Given the description of an element on the screen output the (x, y) to click on. 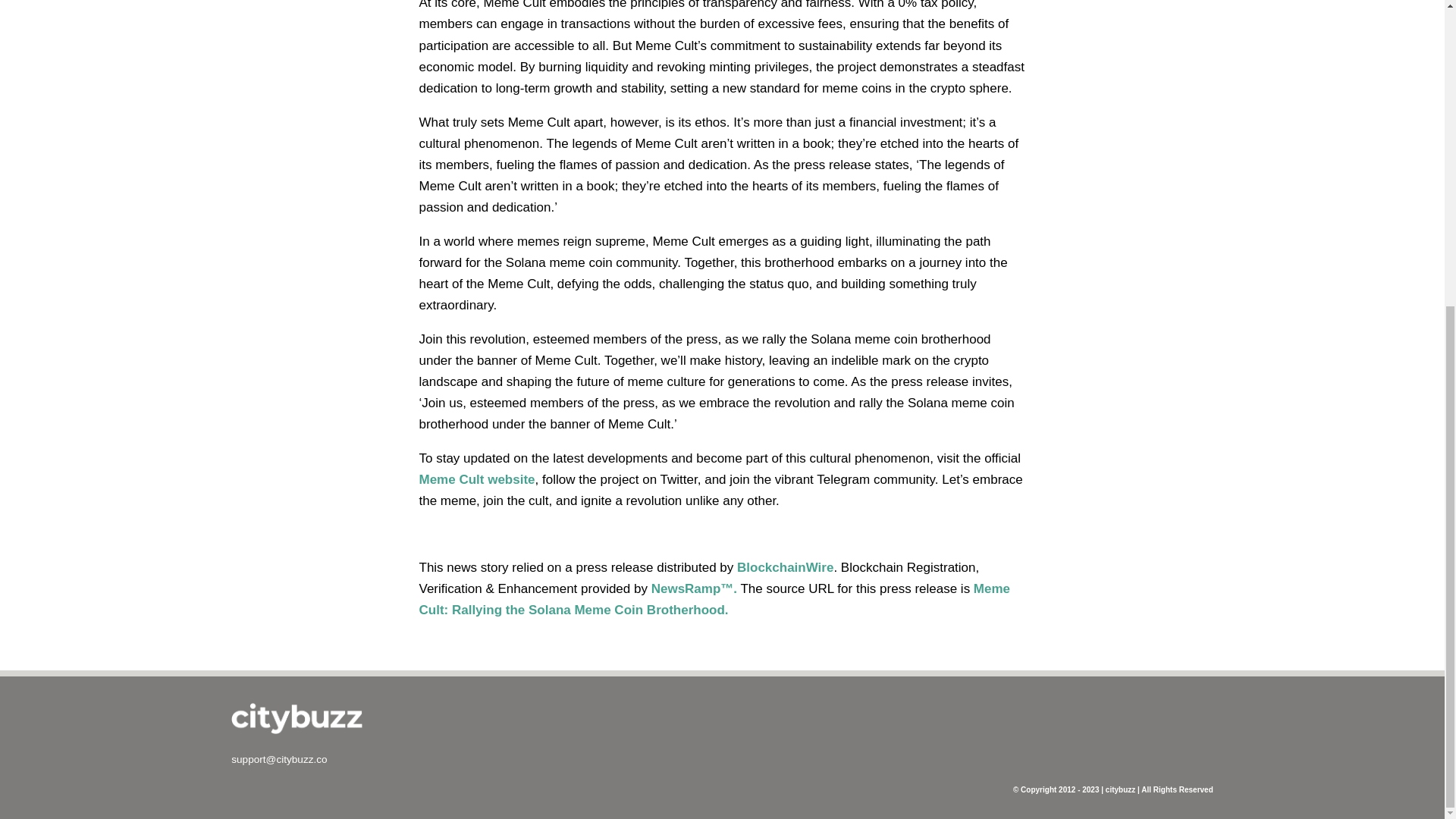
Meme Cult: Rallying the Solana Meme Coin Brotherhood. (714, 599)
Meme Cult website (476, 479)
BlockchainWire (784, 567)
